Given the description of an element on the screen output the (x, y) to click on. 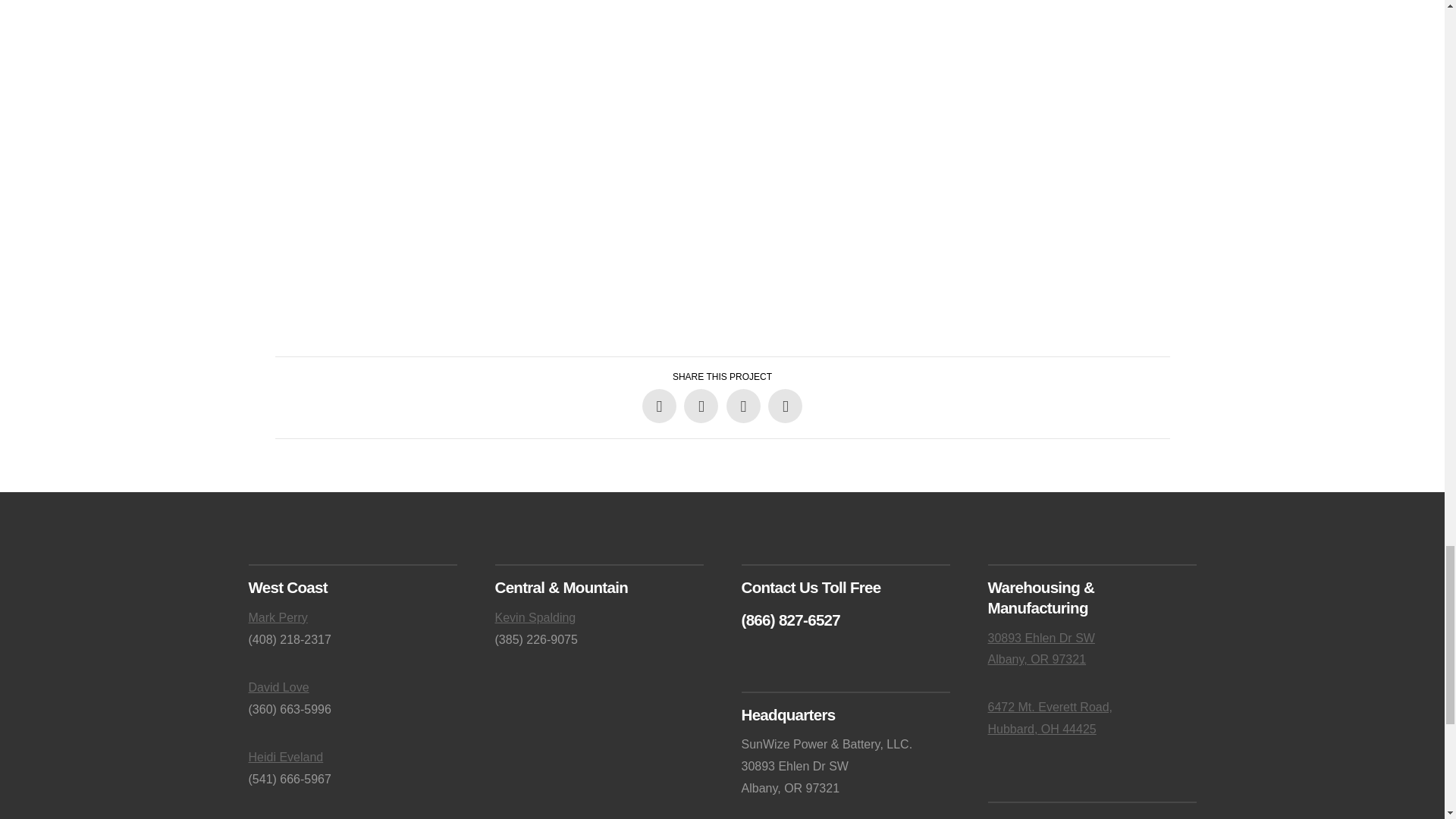
Share on LinkedIn (743, 406)
SunWizeConnect (513, 165)
Share on Facebook (659, 406)
Share via Email (785, 406)
